Given the description of an element on the screen output the (x, y) to click on. 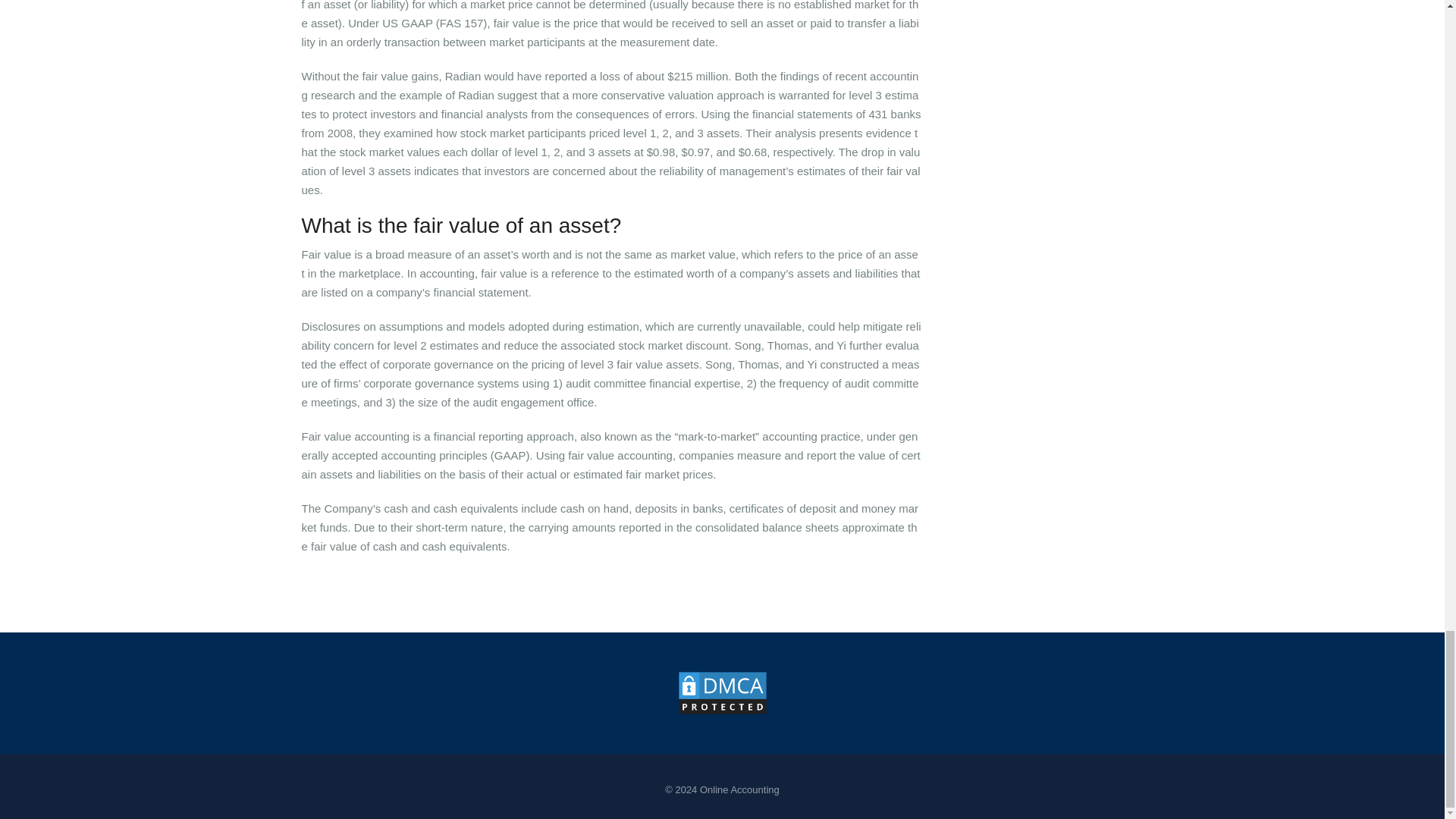
Content Protection by DMCA.com (722, 691)
